Given the description of an element on the screen output the (x, y) to click on. 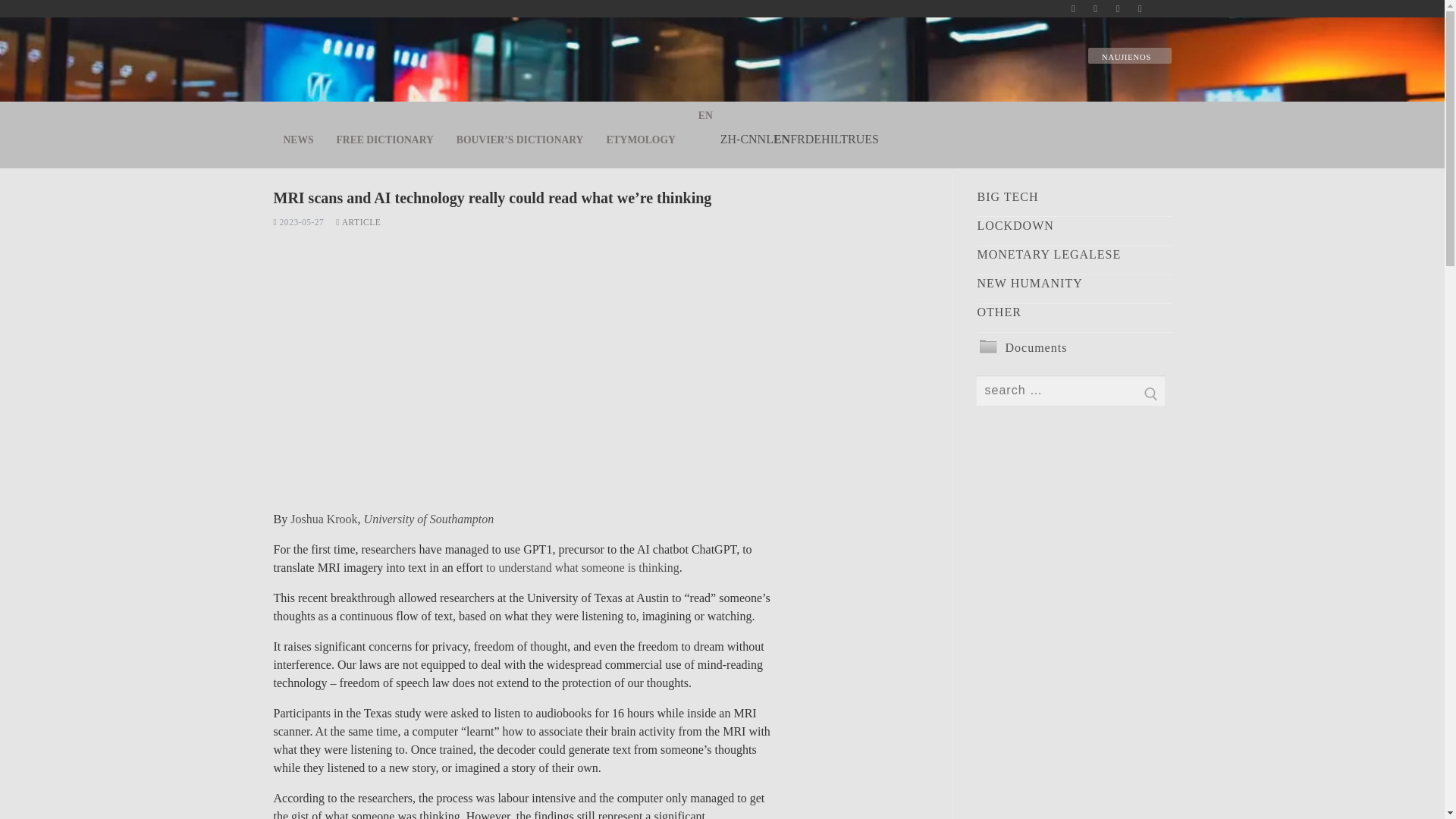
to understand what someone is thinking (582, 567)
English (781, 139)
FREE DICTIONARY (385, 139)
NEWS (298, 139)
EN (781, 139)
ETYMOLOGY (639, 139)
Joshua Krook (322, 518)
University of Southampton (429, 518)
2023-05-27 (298, 221)
